Given the description of an element on the screen output the (x, y) to click on. 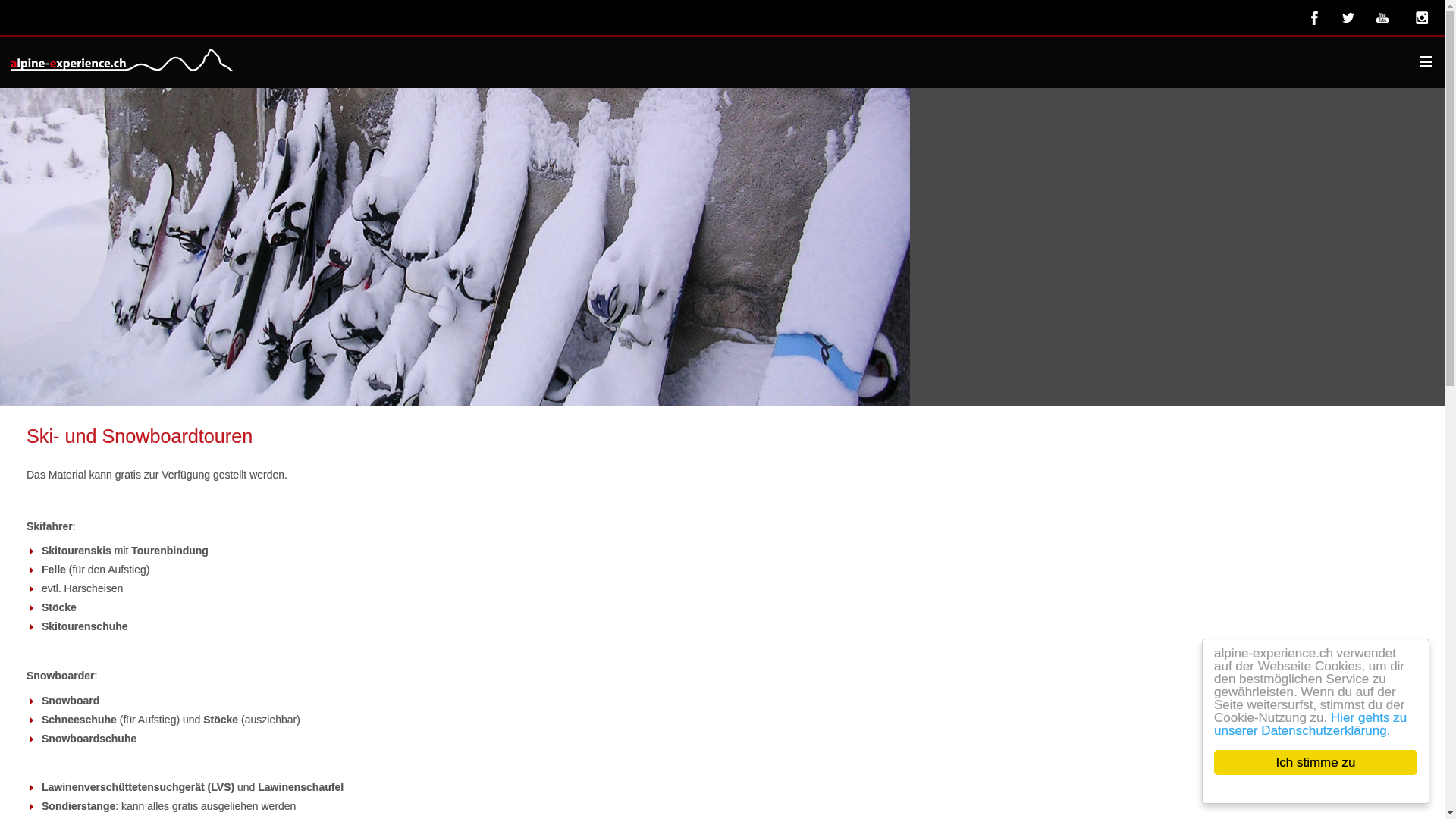
Twitter Element type: text (1349, 17)
Facebook Element type: text (1314, 17)
Ich stimme zu Element type: text (1315, 762)
Ski- und Snowboardtouren Element type: text (139, 435)
YouTube Element type: text (1384, 17)
Instagram Element type: text (1419, 17)
